Given the description of an element on the screen output the (x, y) to click on. 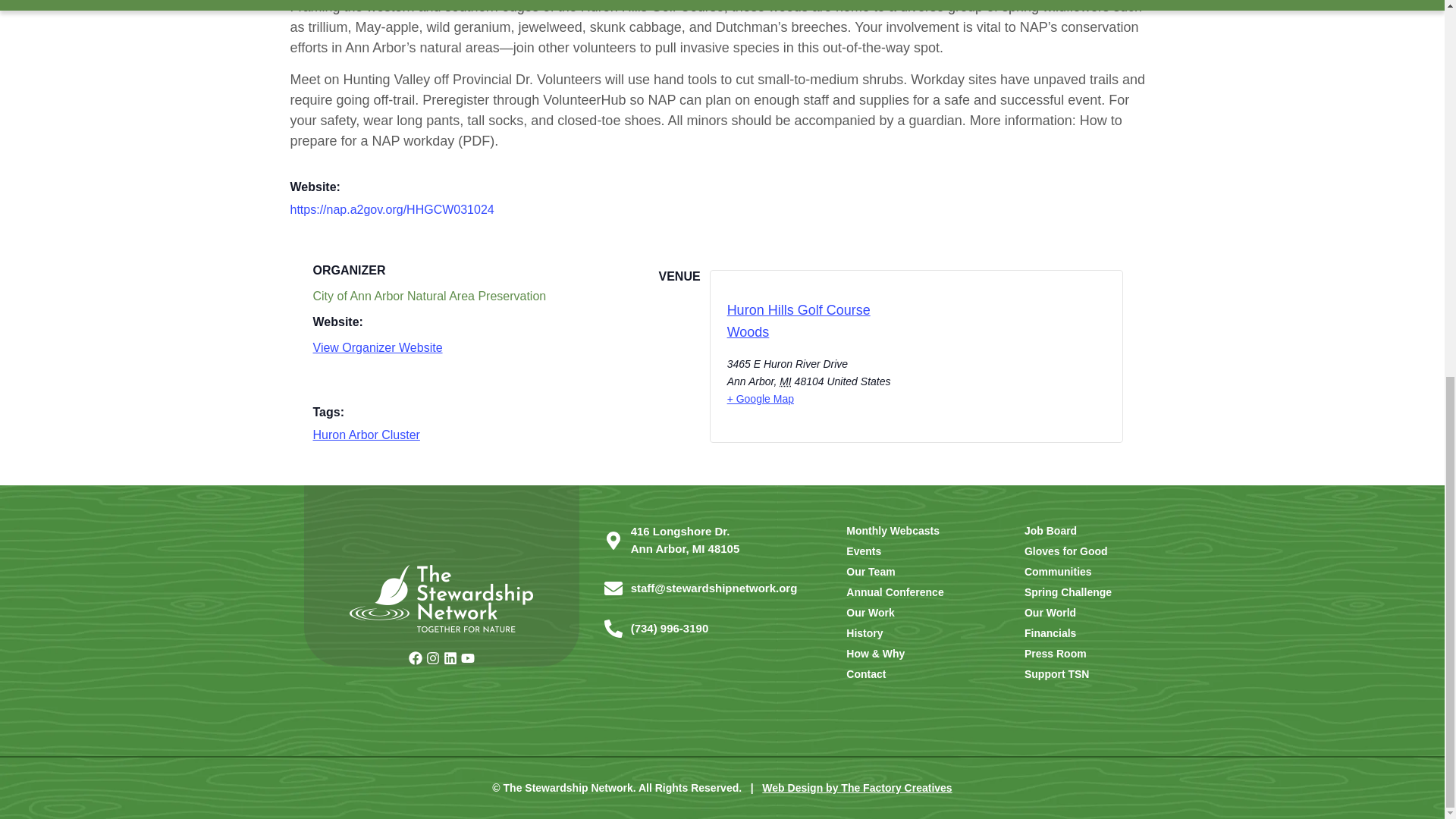
Click to view a Google Map (759, 398)
Pittsburgh Web Design (856, 787)
Michigan (785, 381)
